Given the description of an element on the screen output the (x, y) to click on. 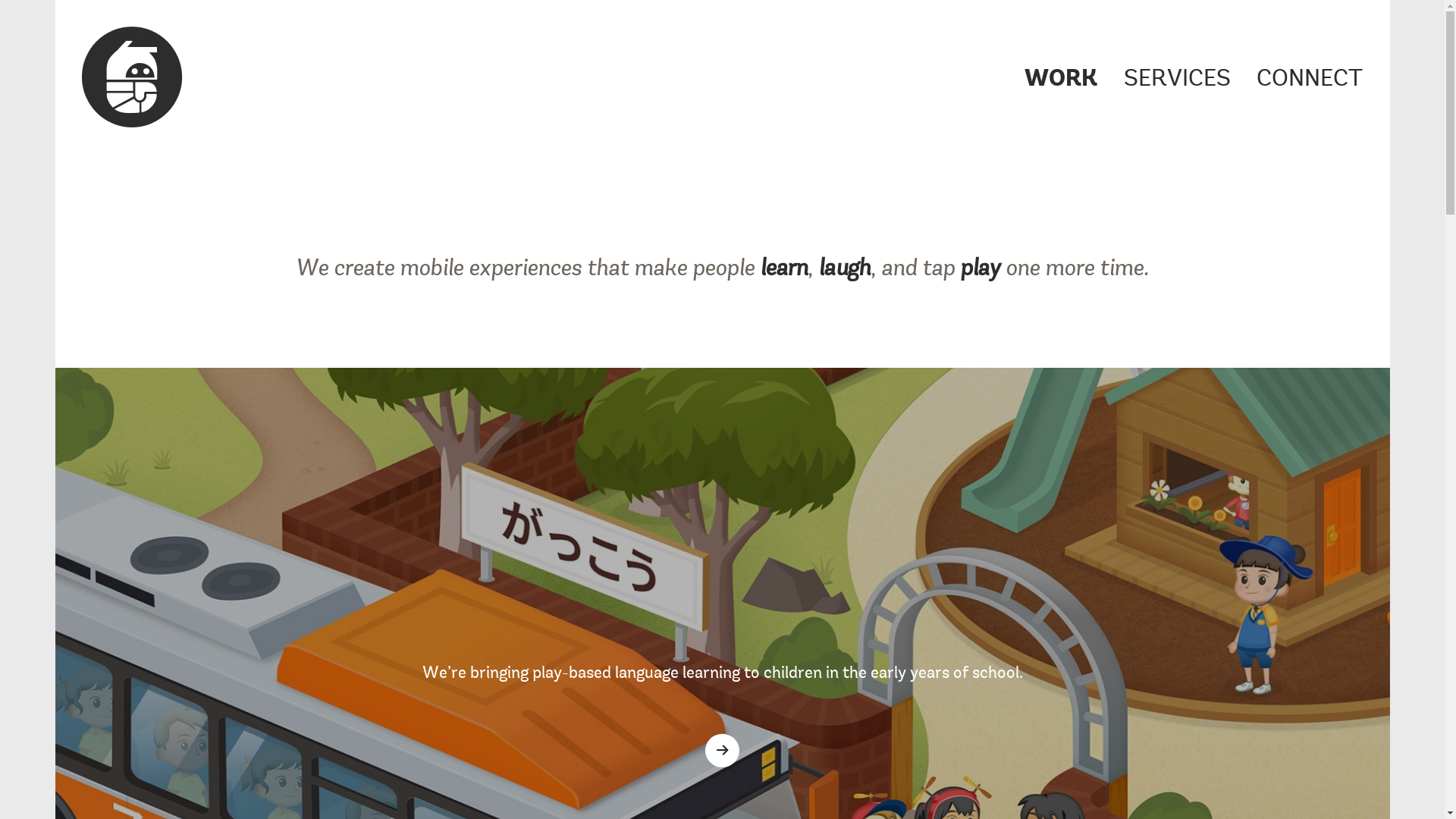
WORK Element type: text (1060, 79)
SERVICES Element type: text (1176, 79)
CONNECT Element type: text (1309, 79)
